Given the description of an element on the screen output the (x, y) to click on. 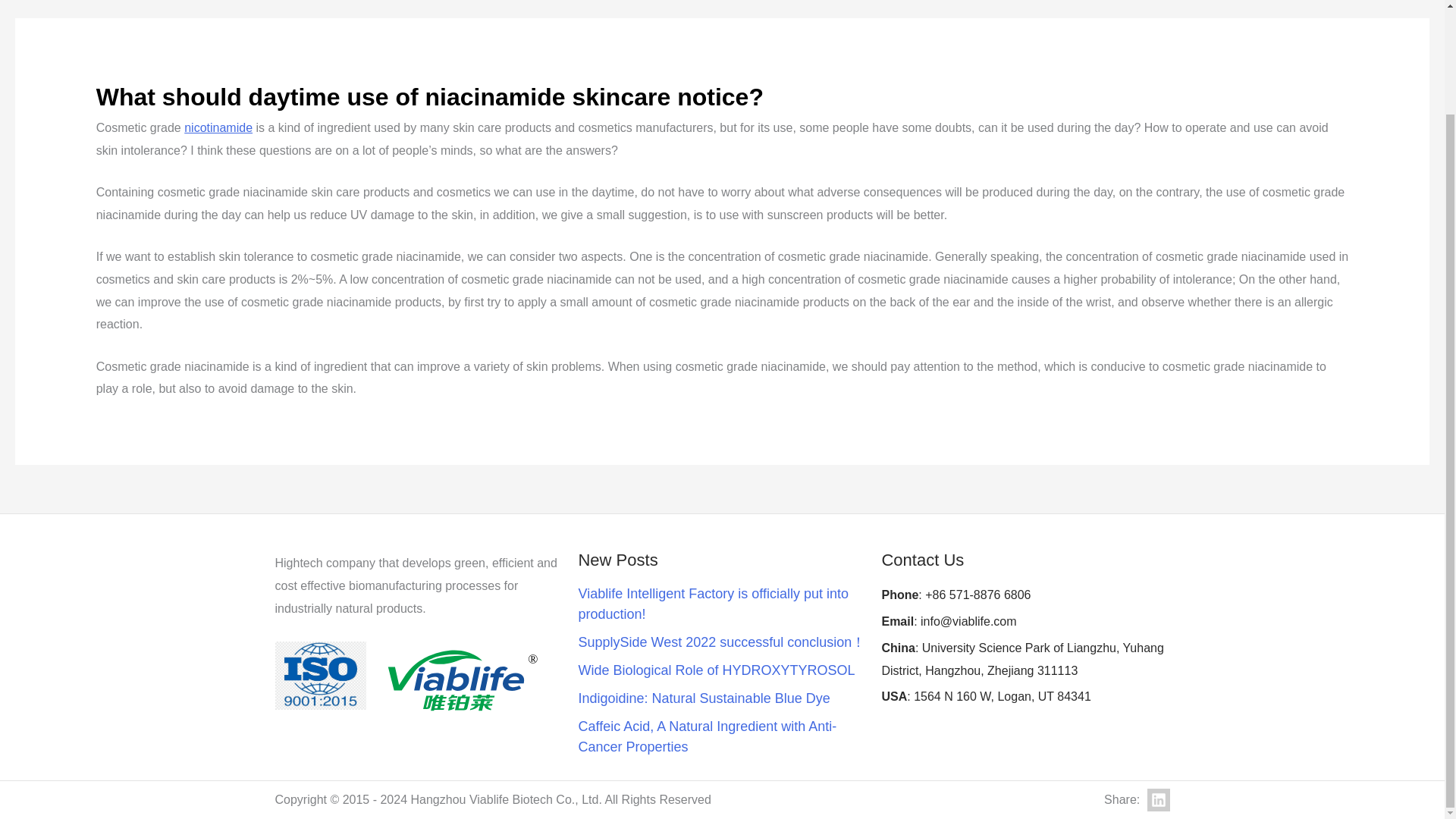
viablifelogo (461, 679)
nicotinamide (217, 127)
